Given the description of an element on the screen output the (x, y) to click on. 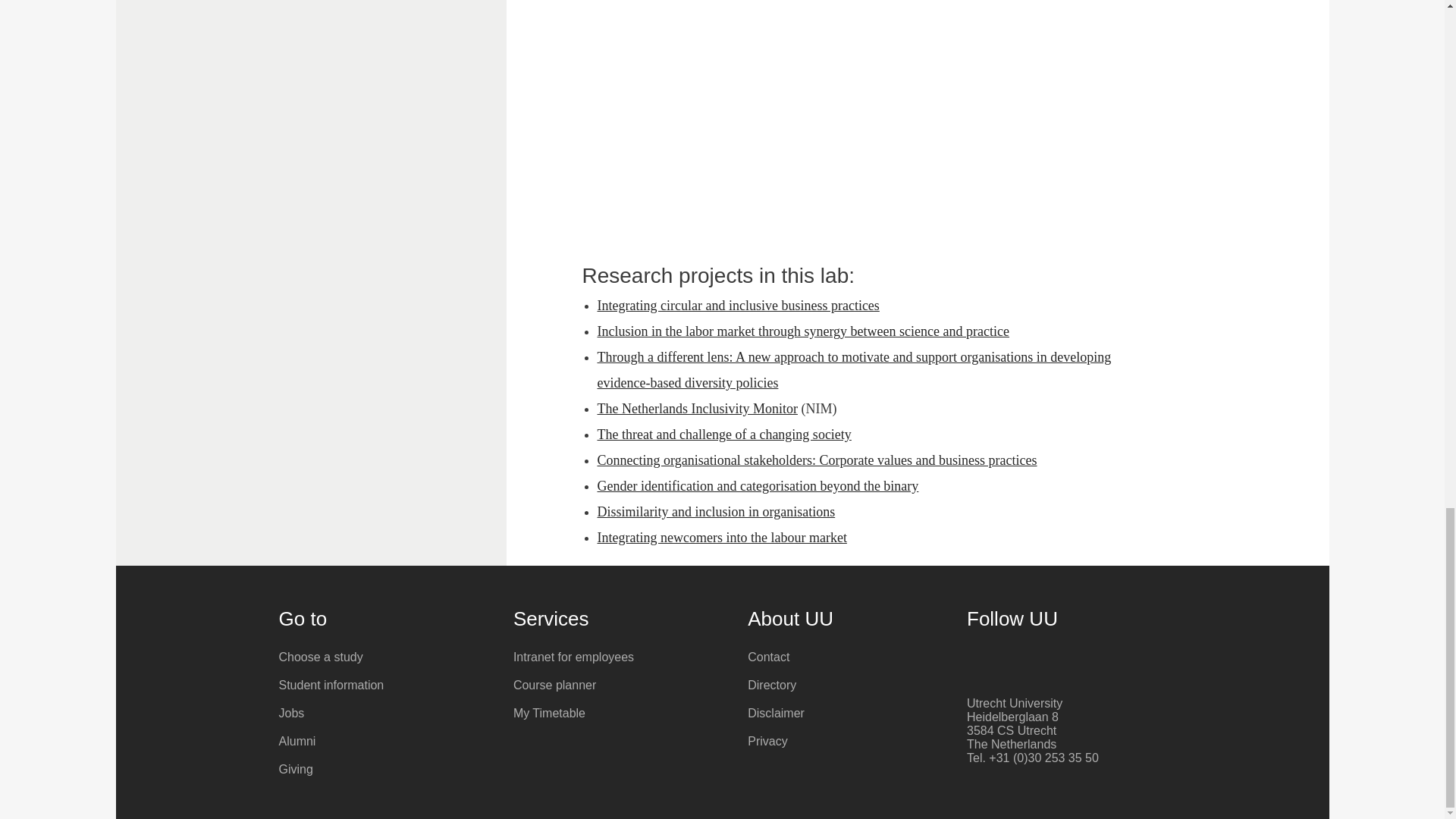
The threat and challenge of a changing society (723, 434)
Diversiteitslab Utrecht University with subtitles (874, 113)
Integrating circular and inclusive business practices (737, 305)
Gender identification and categorisation beyond the binary (757, 485)
The Netherlands Inclusivity Monitor (696, 408)
